Given the description of an element on the screen output the (x, y) to click on. 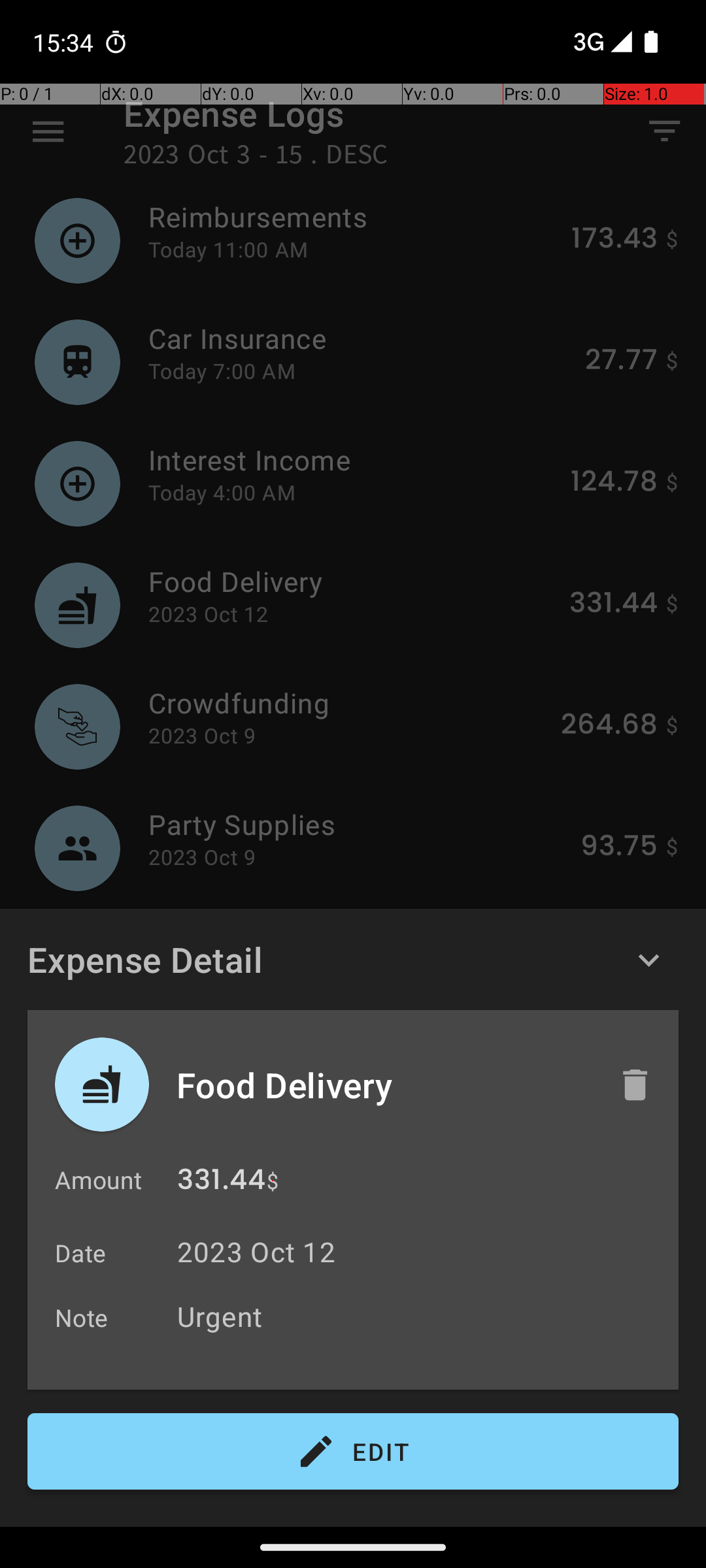
331.44 Element type: android.widget.TextView (221, 1182)
